Given the description of an element on the screen output the (x, y) to click on. 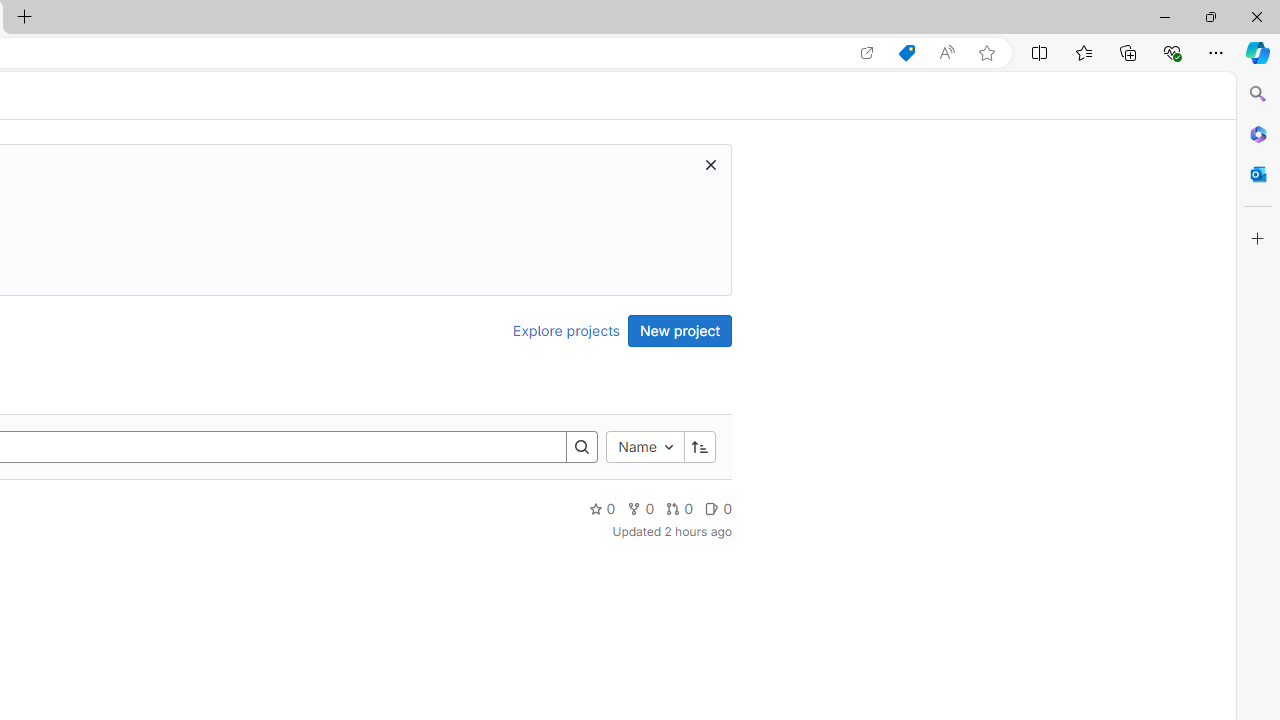
0 (718, 508)
Class: s16 gl-icon gl-button-icon  (710, 164)
Open in app (867, 53)
New project (680, 330)
Explore projects (565, 330)
